Given the description of an element on the screen output the (x, y) to click on. 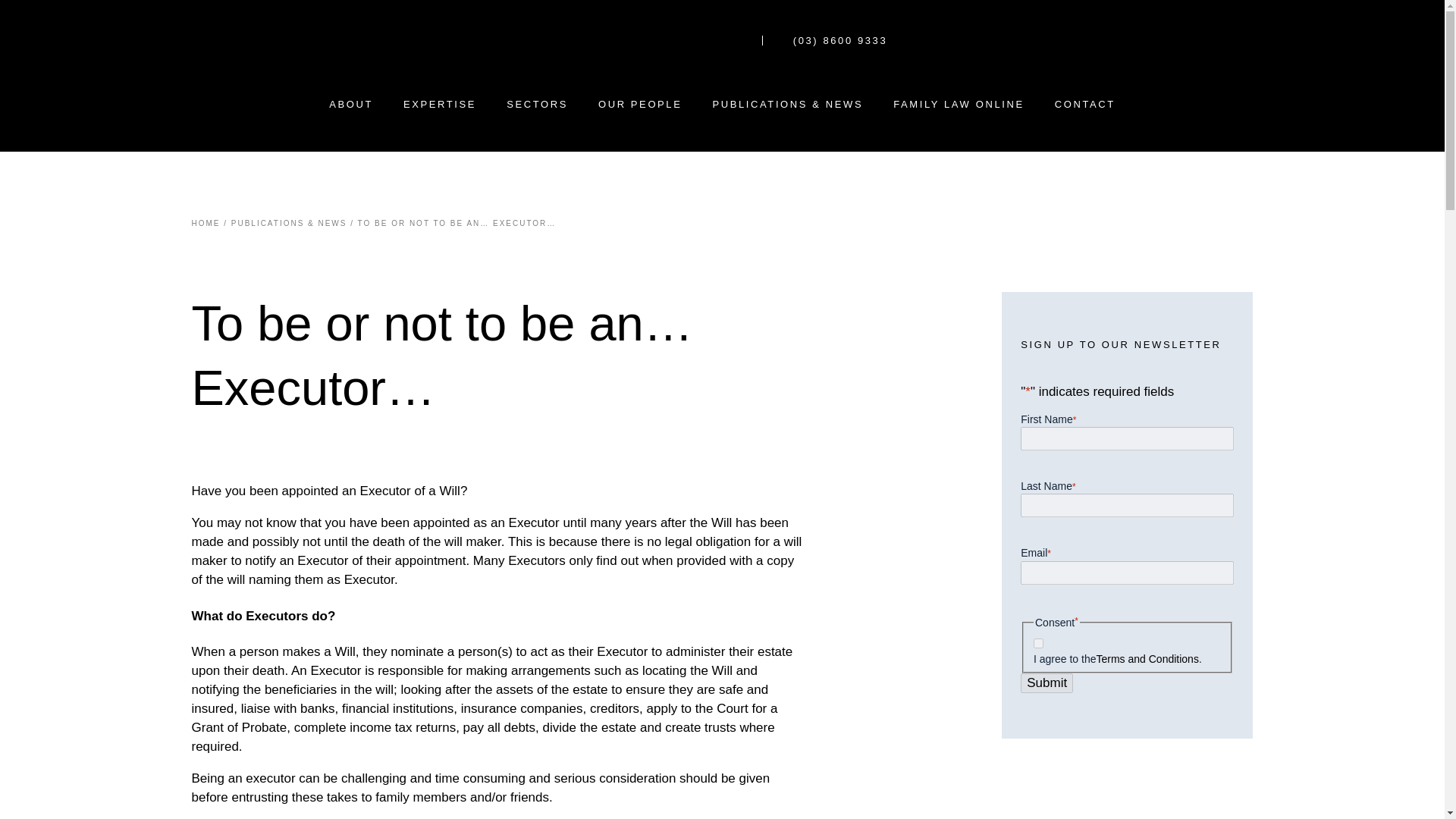
SECTORS (537, 103)
Submit (1046, 682)
Tisher Liner FC Law (651, 40)
EXPERTISE (439, 103)
1 (1038, 643)
ABOUT (350, 103)
